Given the description of an element on the screen output the (x, y) to click on. 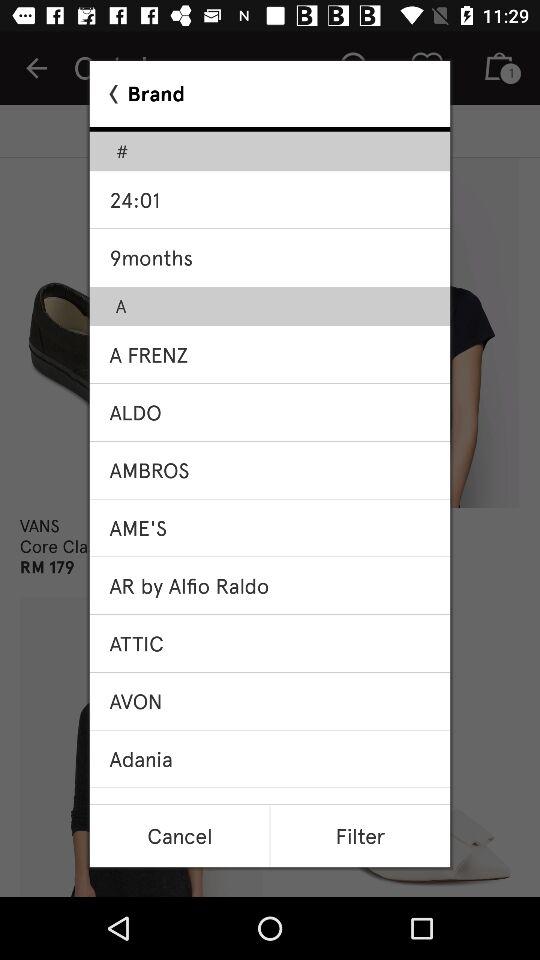
jump to the filter item (360, 836)
